Given the description of an element on the screen output the (x, y) to click on. 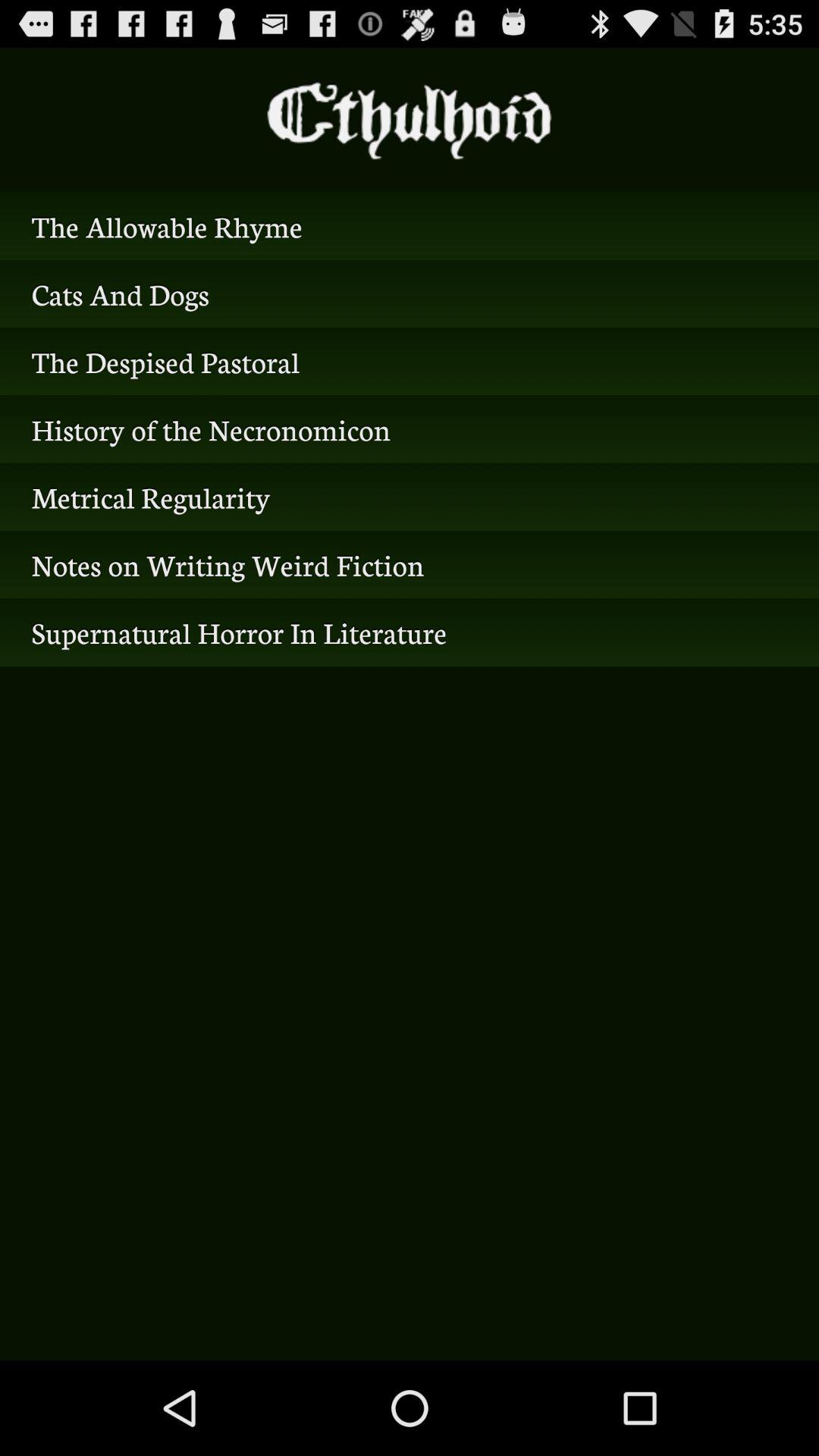
swipe to the supernatural horror in icon (409, 632)
